Given the description of an element on the screen output the (x, y) to click on. 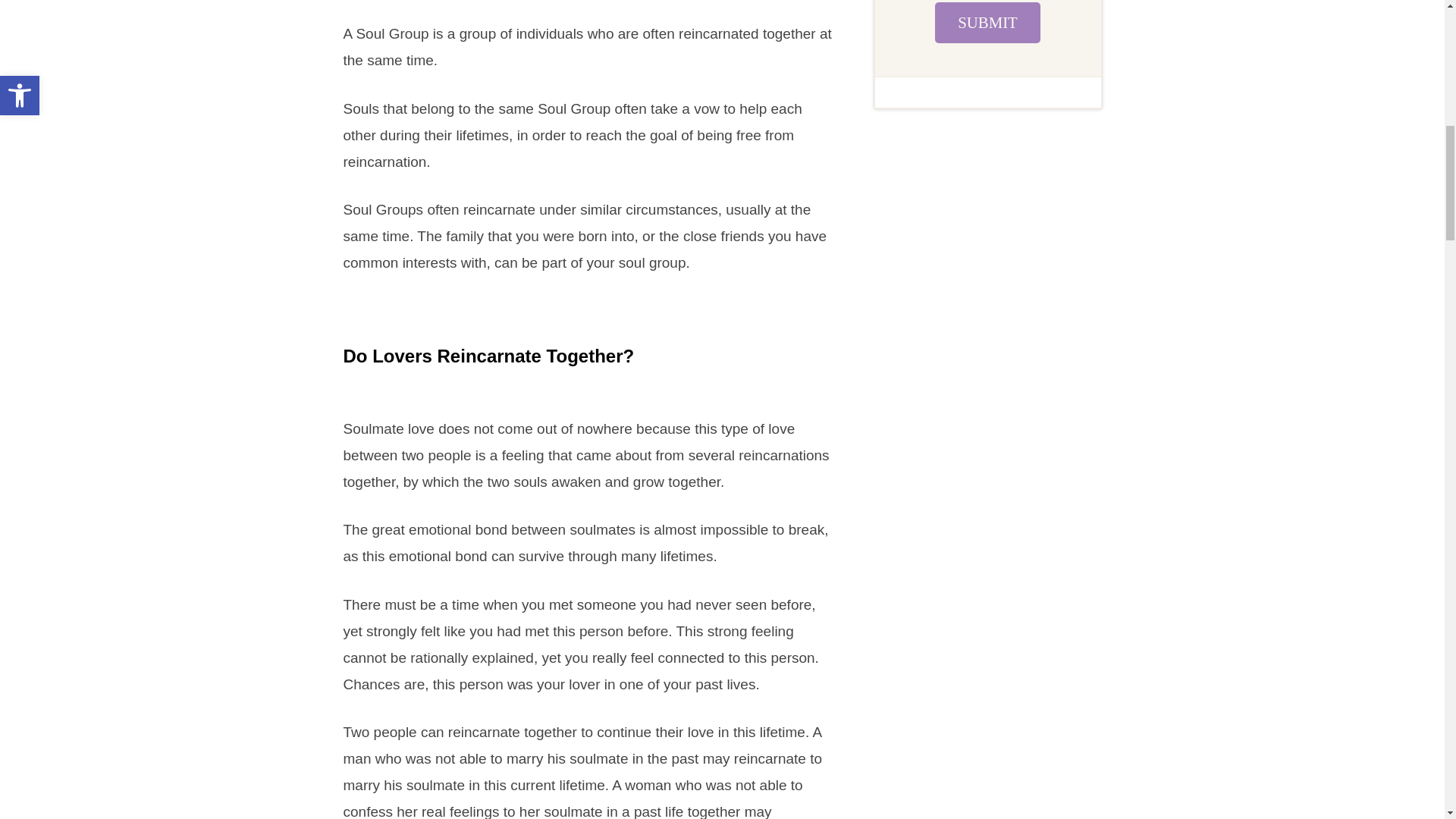
Submit (987, 22)
Submit (987, 22)
